Given the description of an element on the screen output the (x, y) to click on. 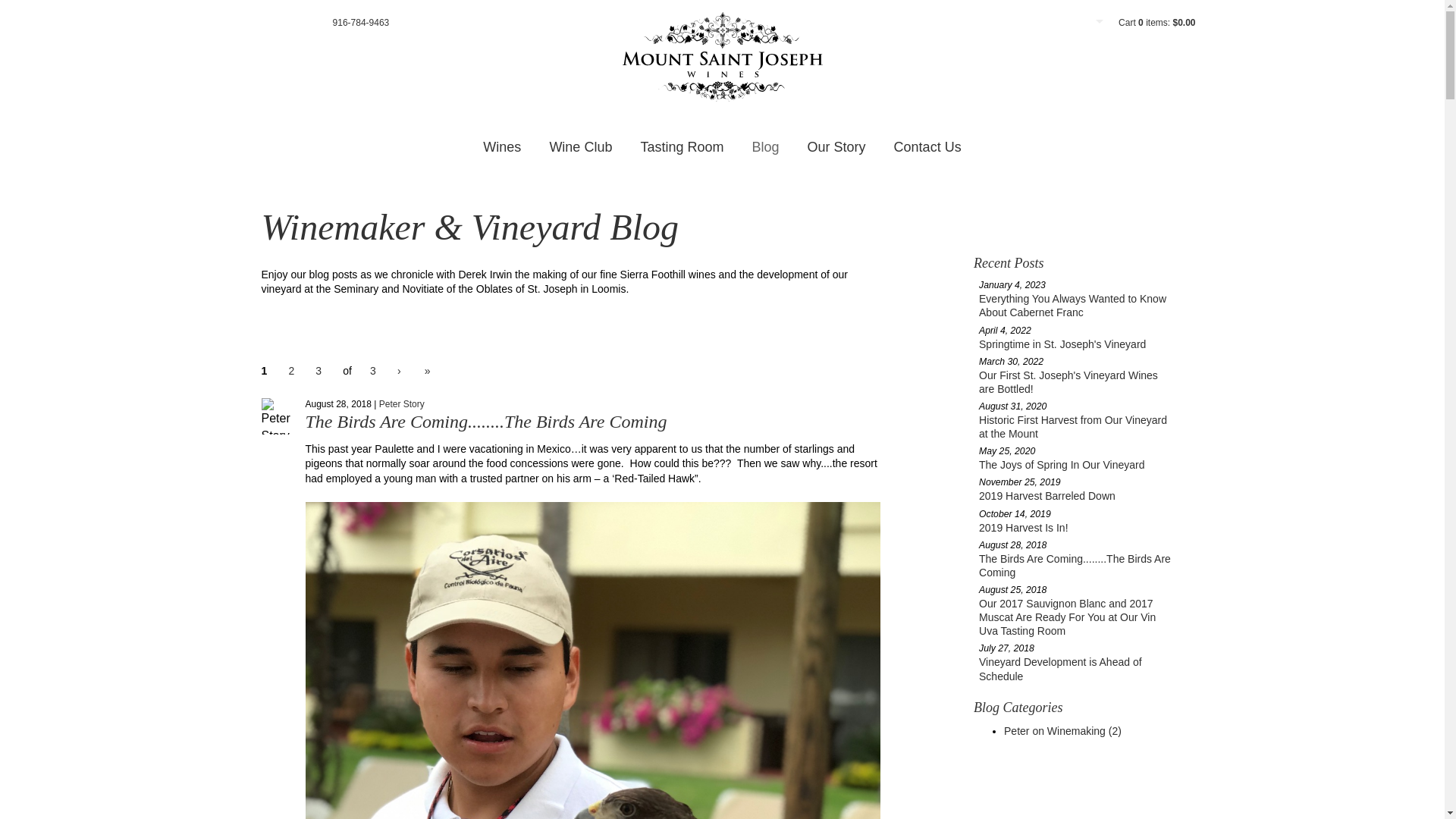
Twitter (276, 22)
Contact Us (928, 147)
Our Story (835, 147)
916-784-9463 (361, 22)
Facebook (254, 22)
Blog (765, 147)
Instagram (299, 22)
Wines (501, 147)
Wine Club (580, 147)
Tasting Room (681, 147)
